Given the description of an element on the screen output the (x, y) to click on. 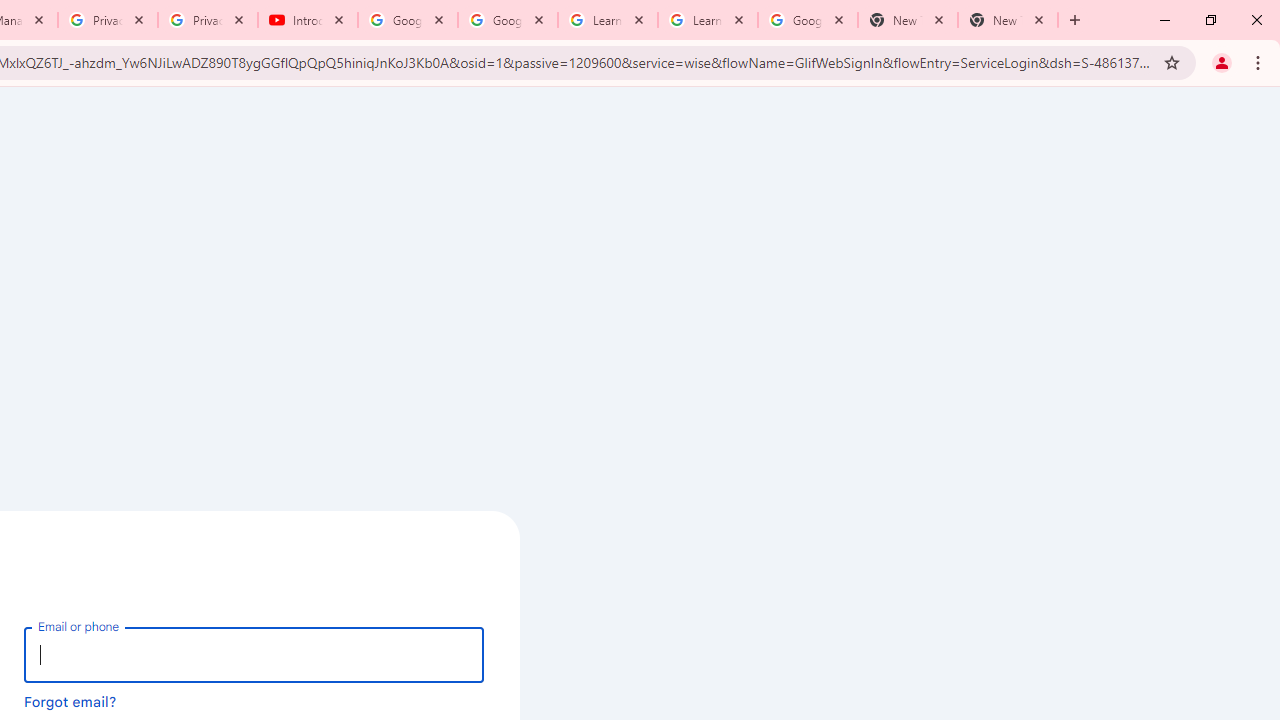
Email or phone (253, 654)
New Tab (1007, 20)
Forgot email? (70, 701)
Google Account Help (508, 20)
New Tab (907, 20)
Google Account Help (408, 20)
